Given the description of an element on the screen output the (x, y) to click on. 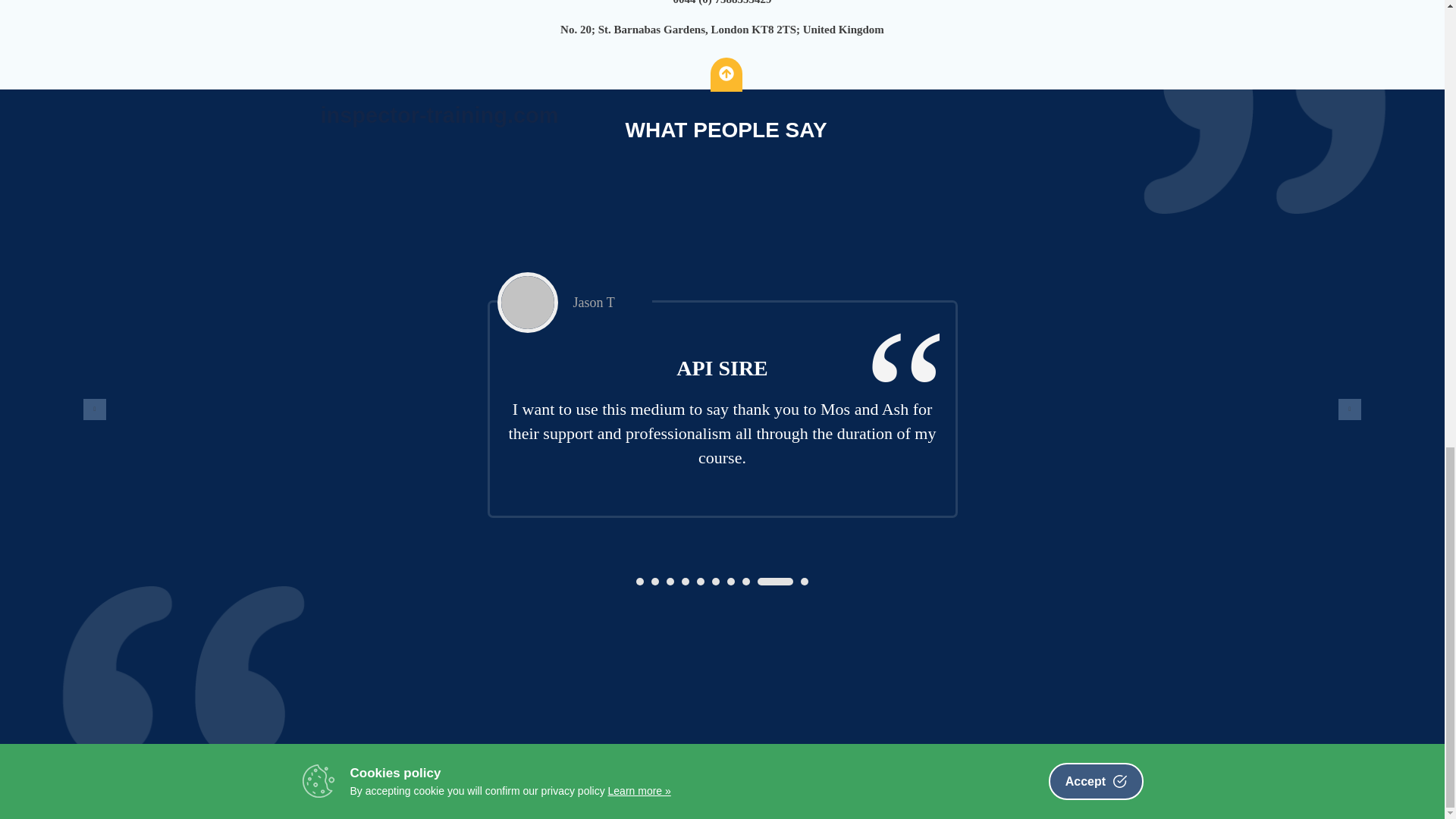
JT (527, 301)
